Given the description of an element on the screen output the (x, y) to click on. 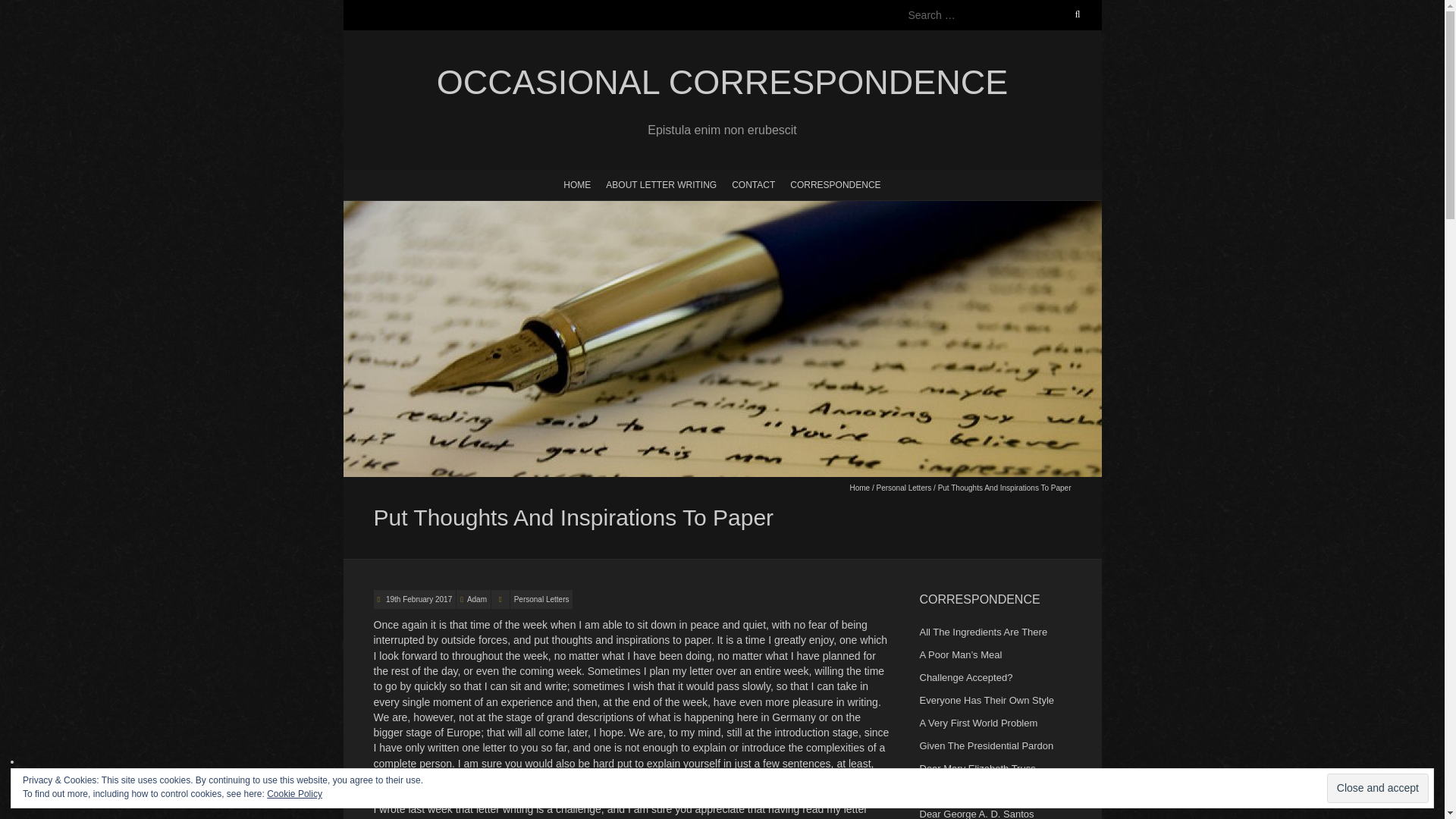
Put Thoughts And Inspirations To Paper (417, 599)
All The Ingredients Are There (982, 632)
Search (28, 9)
OCCASIONAL CORRESPONDENCE (721, 82)
CORRESPONDENCE (835, 184)
View all posts by Adam (476, 599)
Home (858, 488)
A Very First World Problem (977, 722)
Everyone Has Their Own Style (986, 699)
CONTACT (753, 184)
Dear Nadhim Zahawi (964, 790)
ABOUT LETTER WRITING (660, 184)
Personal Letters (542, 599)
HOME (577, 184)
Adam (476, 599)
